Given the description of an element on the screen output the (x, y) to click on. 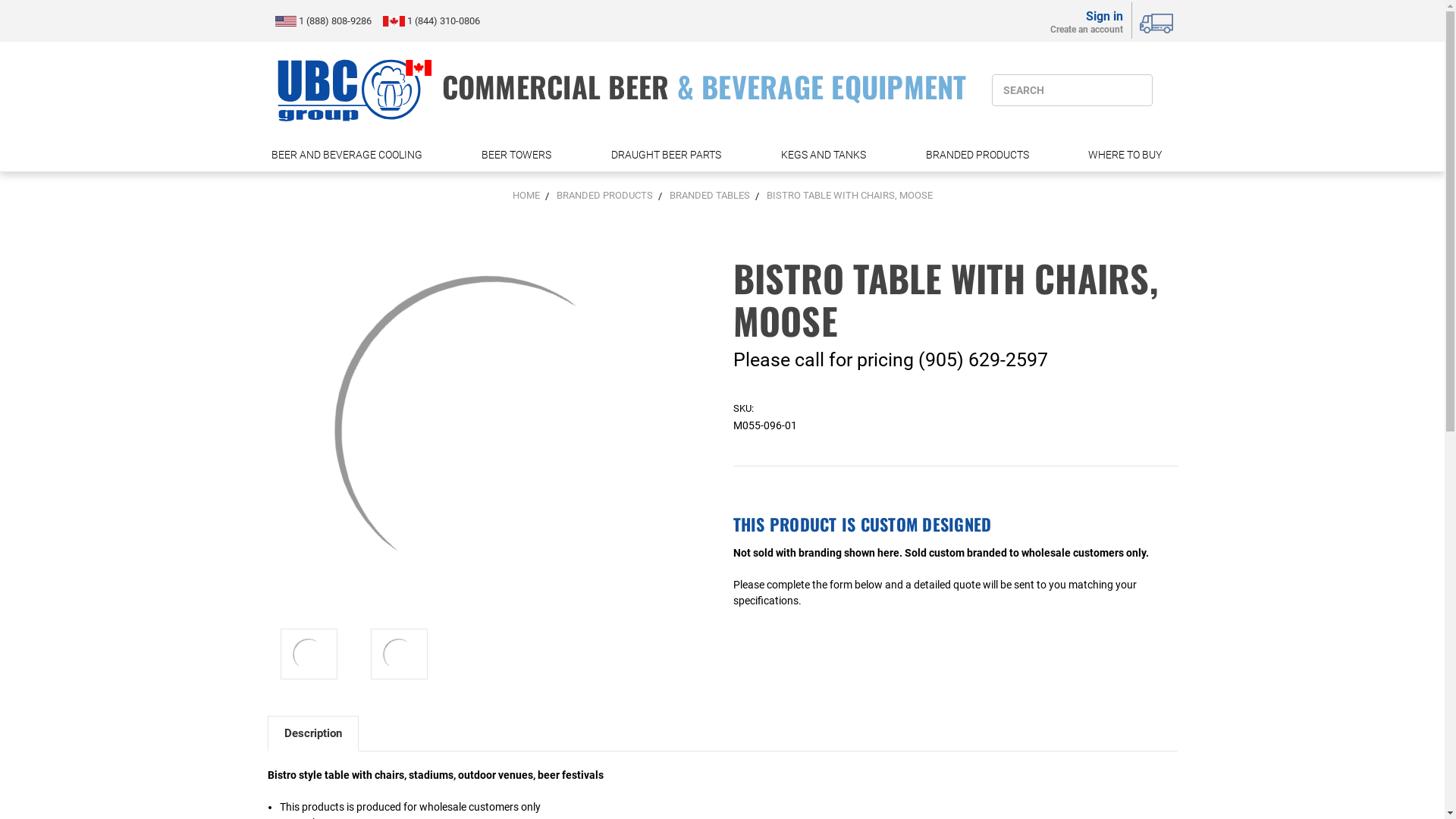
1 (844) 310-0806 Element type: text (442, 20)
DRAUGHT BEER PARTS Element type: text (671, 154)
BRANDED PRODUCTS Element type: text (604, 194)
1 (888) 808-9286 Element type: text (335, 20)
Description Element type: text (312, 732)
Sign in Element type: text (1086, 13)
BRANDED TABLES Element type: text (708, 194)
WHERE TO BUY Element type: text (1130, 154)
Bistro Table with Chairs, Moose Element type: hover (398, 654)
Bistro Table with Chairs, Moose Element type: hover (489, 430)
BISTRO TABLE WITH CHAIRS, MOOSE Element type: text (848, 194)
BEER AND BEVERAGE COOLING Element type: text (351, 154)
CART Element type: text (1157, 21)
COMMERCIAL BEER & BEVERAGE EQUIPMENT Element type: text (620, 89)
BEER TOWERS Element type: text (521, 154)
Bistro Table with Chairs, Moose Element type: hover (308, 654)
KEGS AND TANKS Element type: text (829, 154)
SEARCH Element type: text (1072, 90)
Create an account Element type: text (1086, 31)
UBC Group  Element type: hover (353, 89)
BRANDED PRODUCTS Element type: text (983, 154)
HOME Element type: text (525, 194)
